Given the description of an element on the screen output the (x, y) to click on. 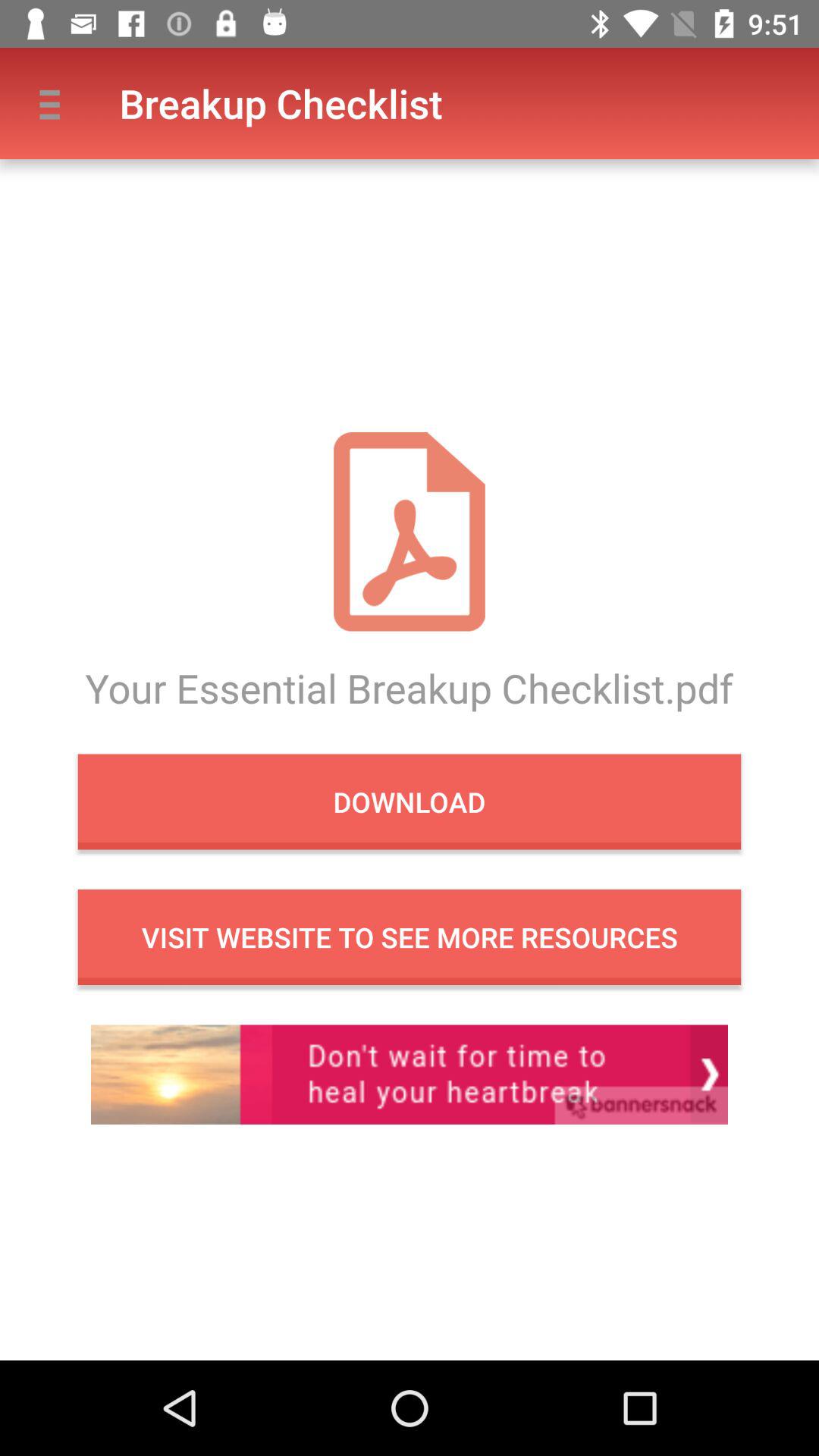
in app advertisement (409, 1074)
